Given the description of an element on the screen output the (x, y) to click on. 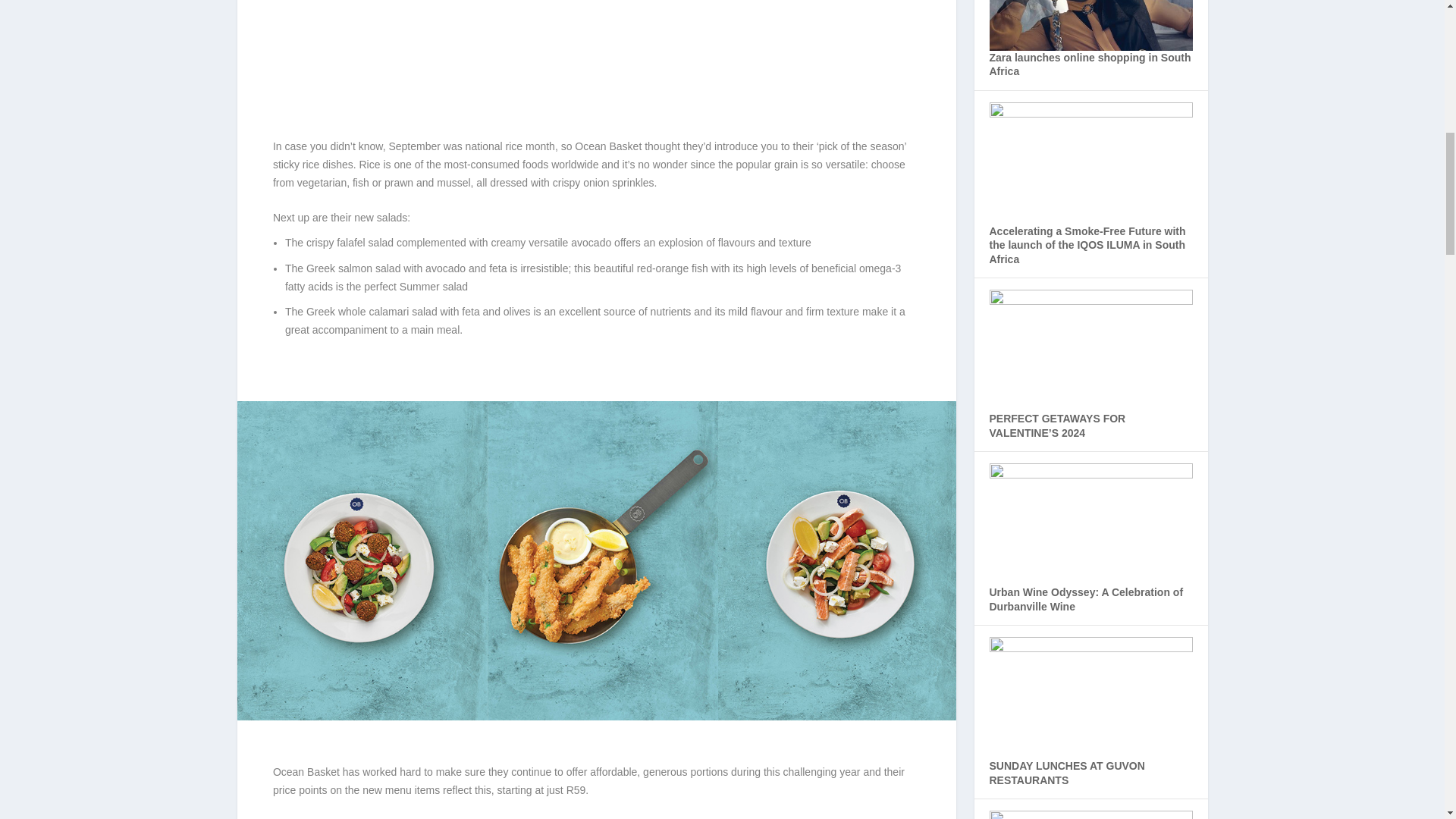
Urban Wine Odyssey: A Celebration of Durbanville Wine (1085, 599)
SUNDAY LUNCHES AT GUVON RESTAURANTS (1066, 773)
Zara launches online shopping in South Africa (1089, 64)
